Given the description of an element on the screen output the (x, y) to click on. 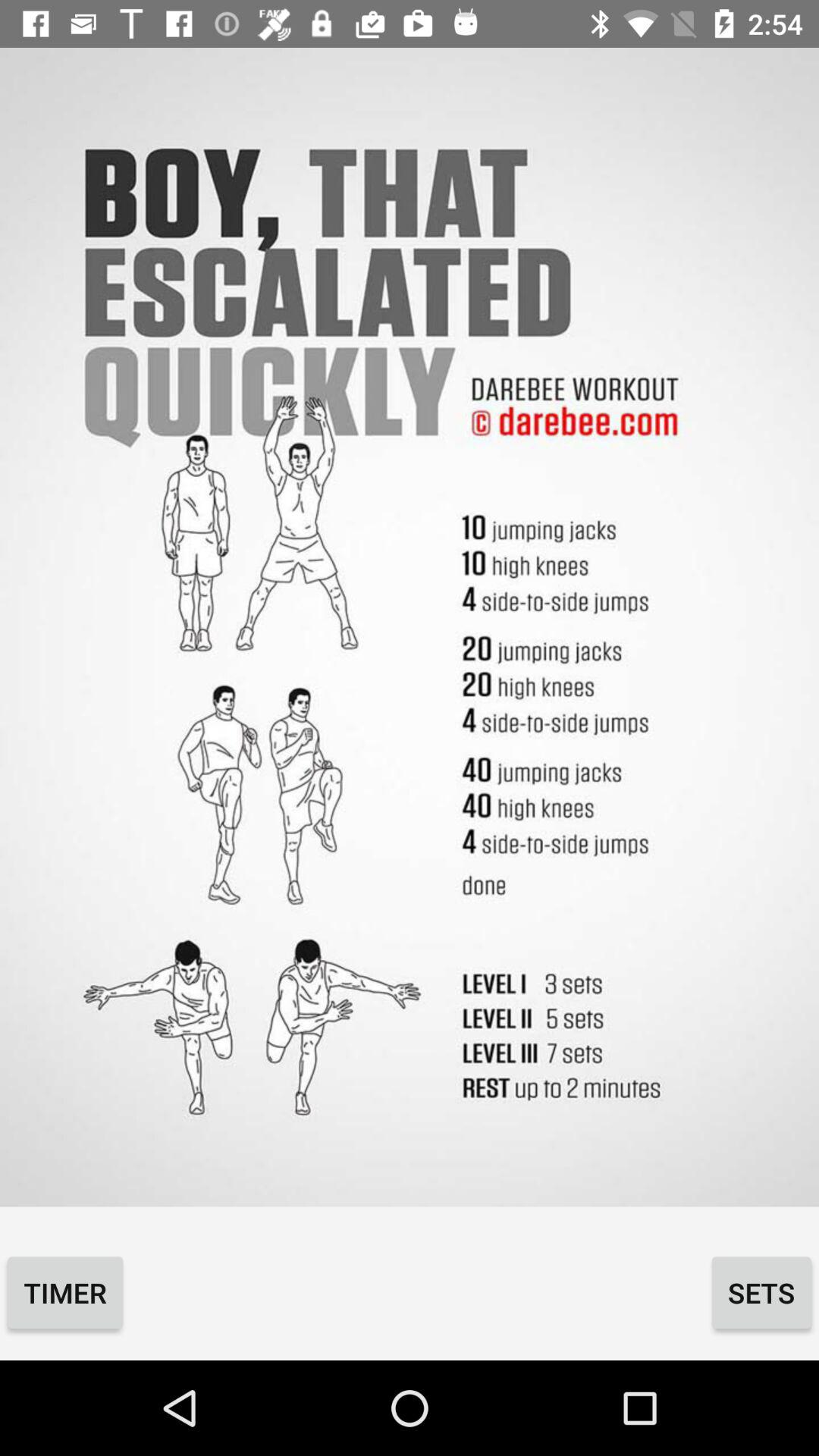
click the sets at the bottom right corner (761, 1292)
